Given the description of an element on the screen output the (x, y) to click on. 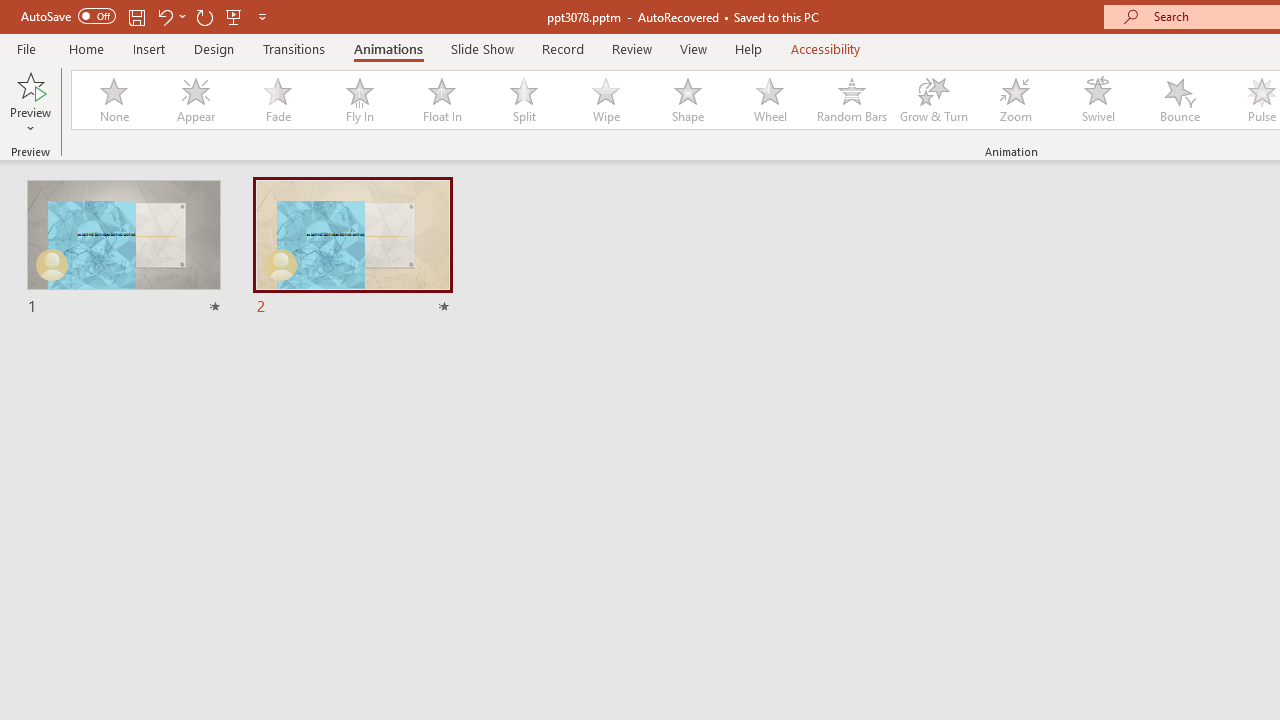
Wheel (770, 100)
Swivel (1098, 100)
Shape (687, 100)
